Given the description of an element on the screen output the (x, y) to click on. 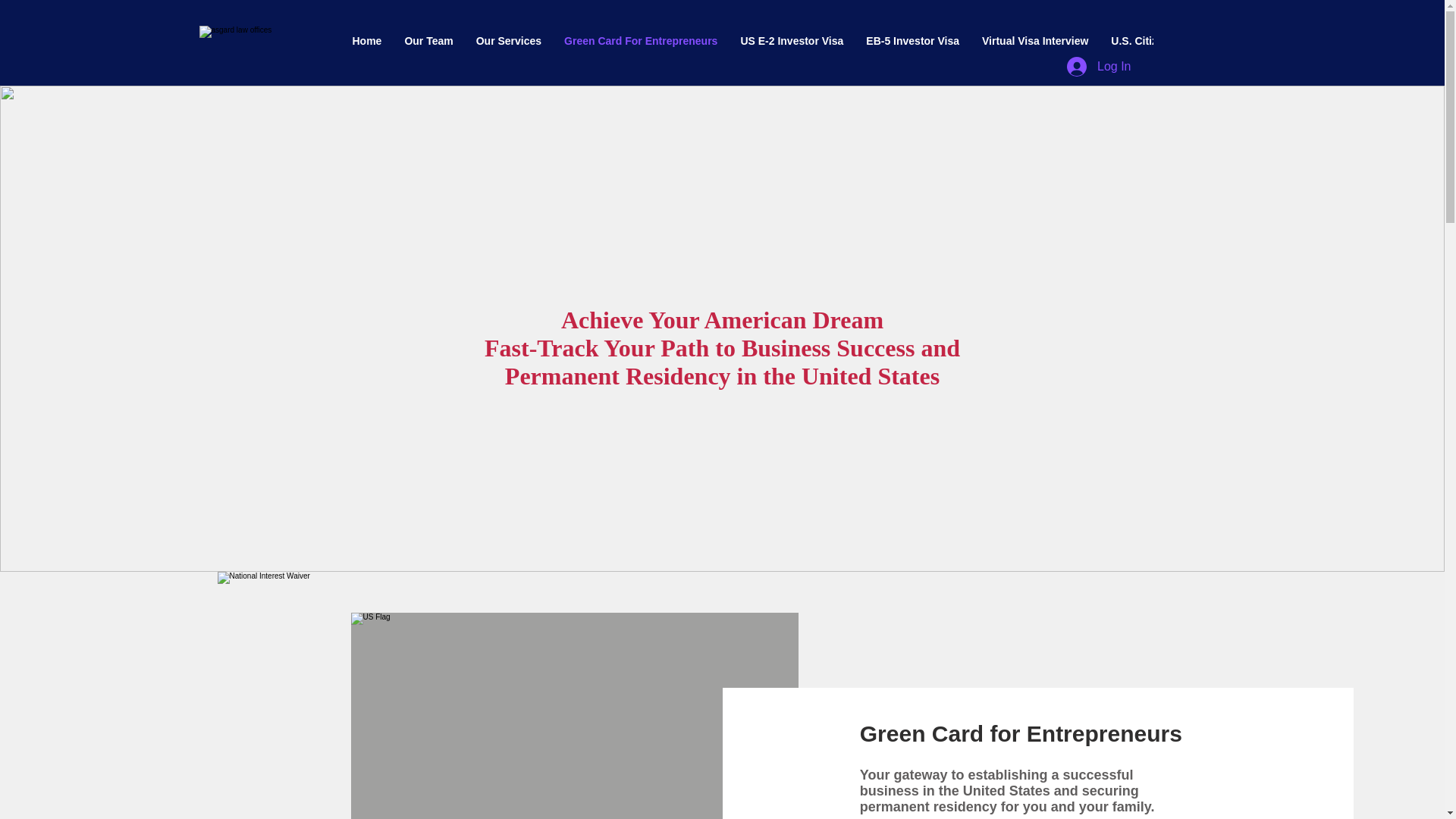
US E-2 Investor Visa (791, 46)
EB-5 Investor Visa (912, 46)
Green Card For Entrepreneurs (641, 46)
Home (366, 46)
Our Team (428, 46)
U.S. Citizenship Interview Preparation (1206, 46)
Log In (1099, 66)
Our Services (508, 46)
Virtual Visa Interview (1035, 46)
